Given the description of an element on the screen output the (x, y) to click on. 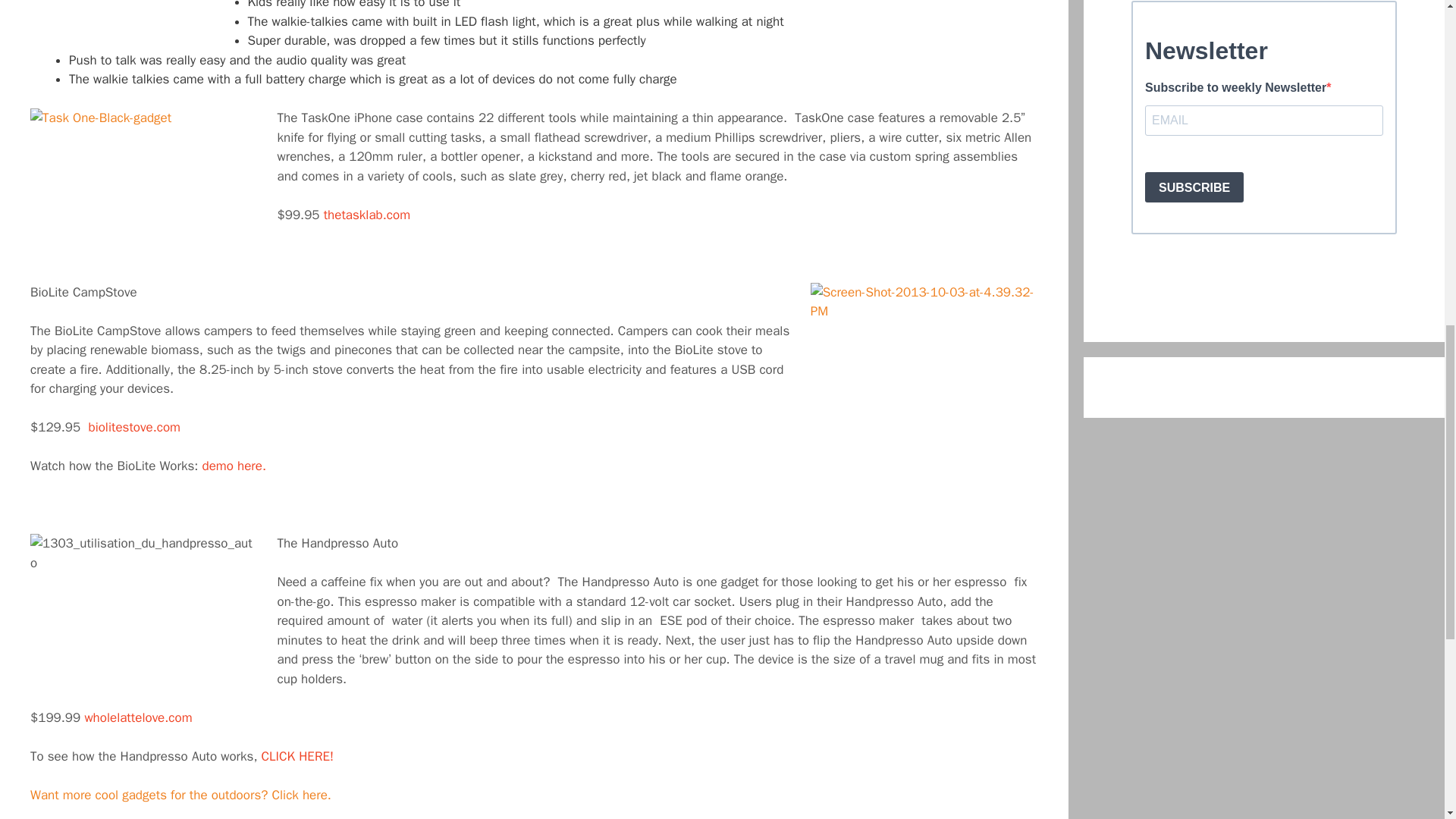
wholelattelove.com (138, 717)
Want more cool gadgets for the outdoors? Click here.  (182, 795)
biolitestove.com (133, 426)
demo here. (234, 465)
thetasklab.com (366, 214)
CLICK HERE! (297, 756)
